Given the description of an element on the screen output the (x, y) to click on. 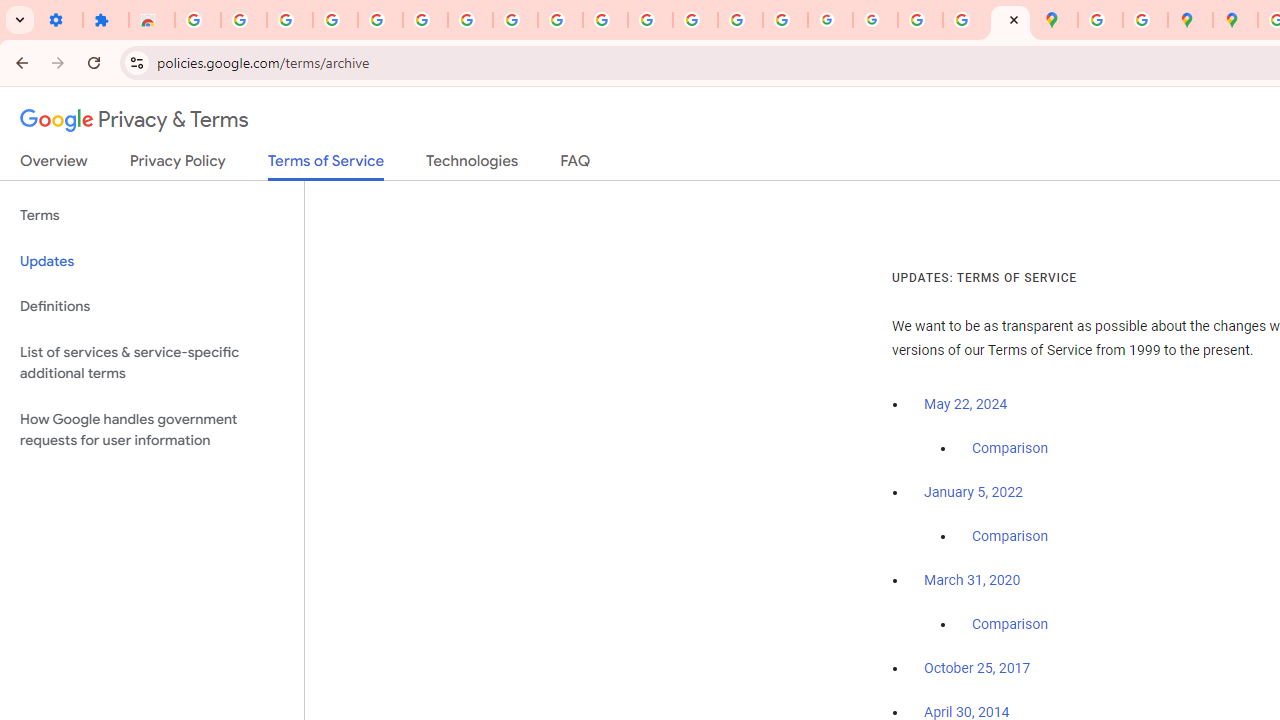
Sign in - Google Accounts (198, 20)
YouTube (559, 20)
Delete photos & videos - Computer - Google Photos Help (290, 20)
https://scholar.google.com/ (650, 20)
January 5, 2022 (973, 492)
